Given the description of an element on the screen output the (x, y) to click on. 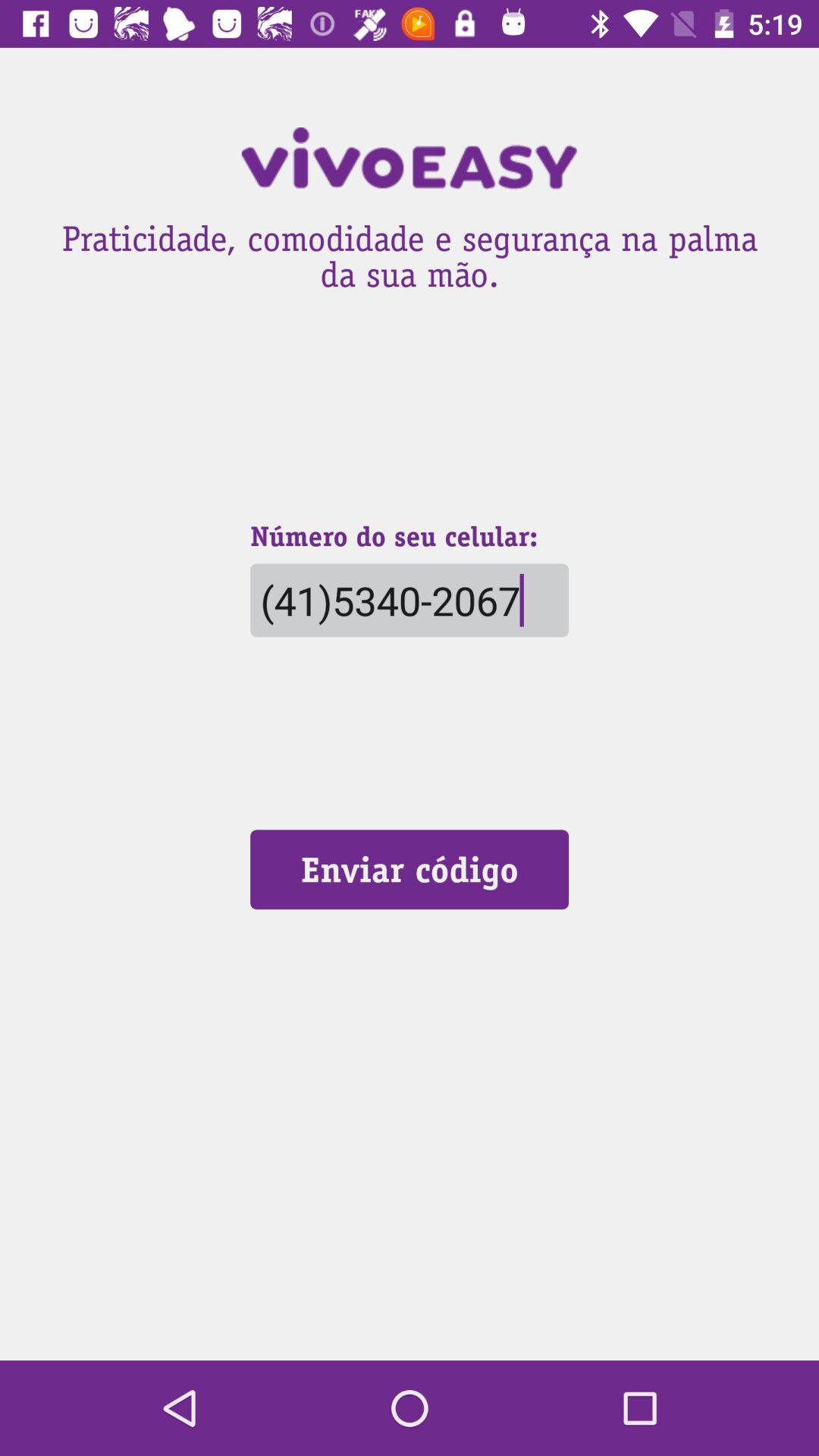
swipe until the praticidade comodidade e (409, 251)
